Given the description of an element on the screen output the (x, y) to click on. 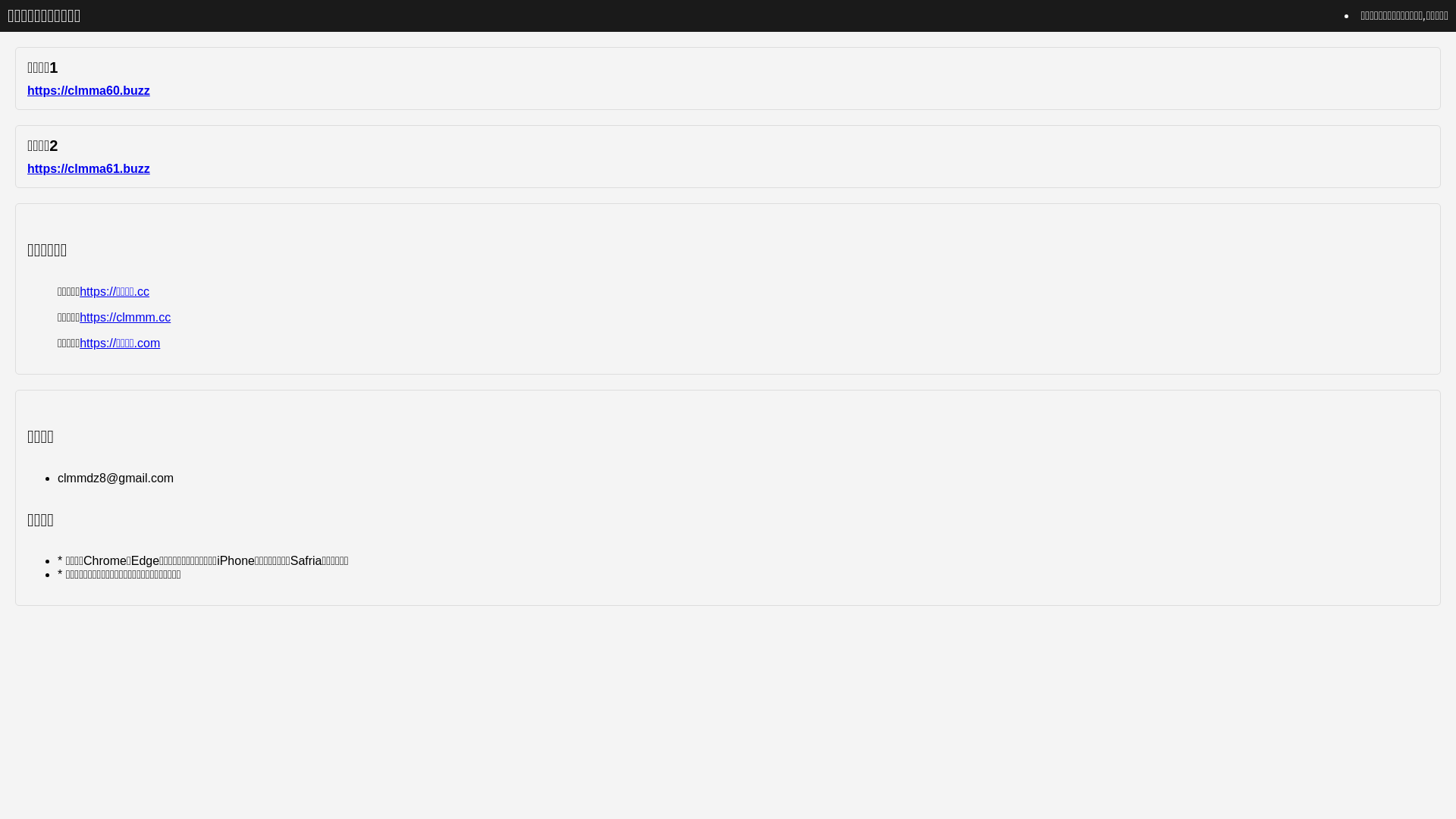
https://clmma60.buzz Element type: text (88, 90)
https://clmma61.buzz Element type: text (88, 168)
https://clmmm.cc Element type: text (124, 316)
clmmdz8@gmail.com Element type: text (115, 477)
